Given the description of an element on the screen output the (x, y) to click on. 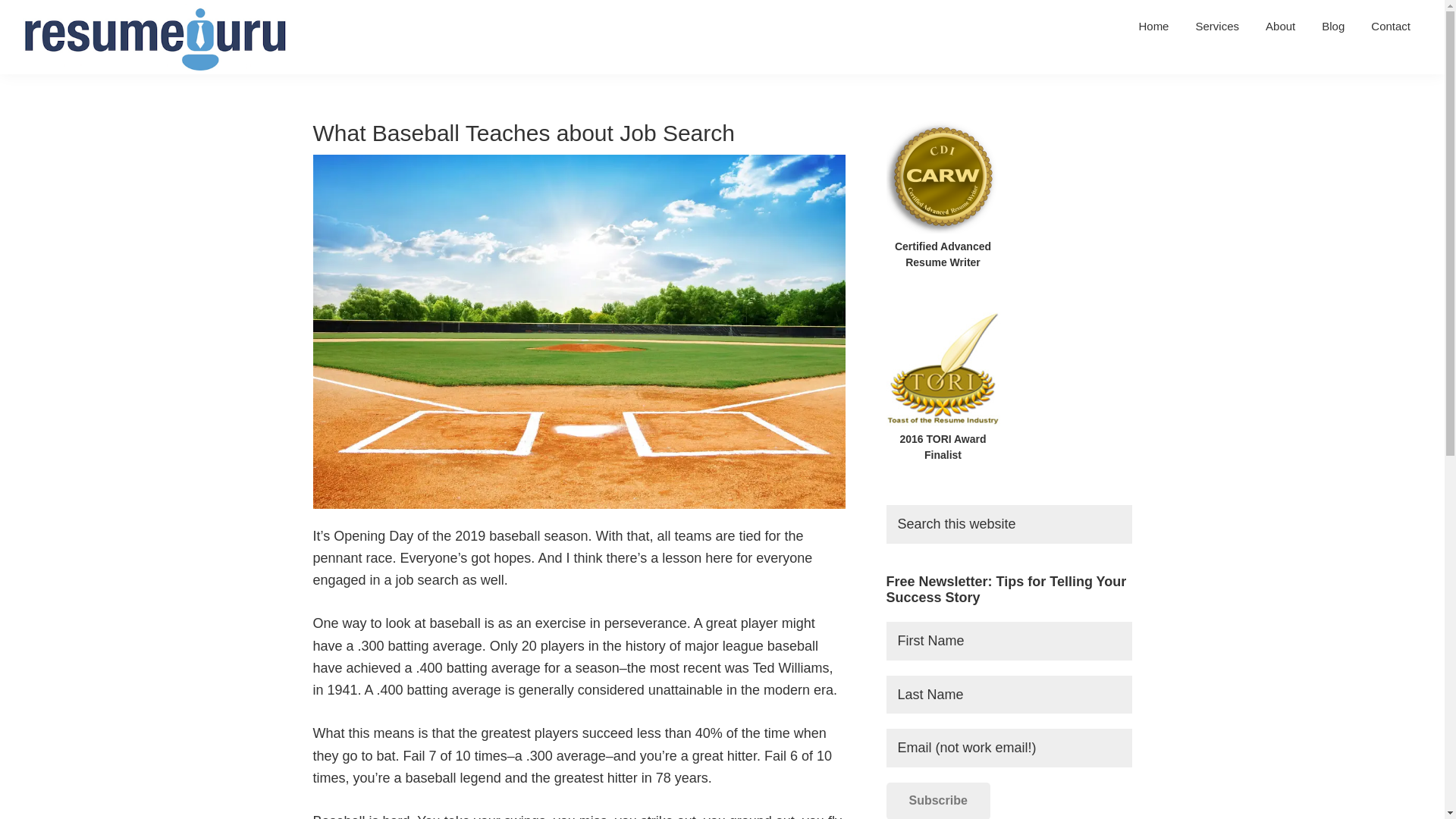
Services (1216, 25)
About (1279, 25)
Contact (1390, 25)
Blog (1332, 25)
Subscribe (937, 800)
Home (1152, 25)
Subscribe (937, 800)
